Given the description of an element on the screen output the (x, y) to click on. 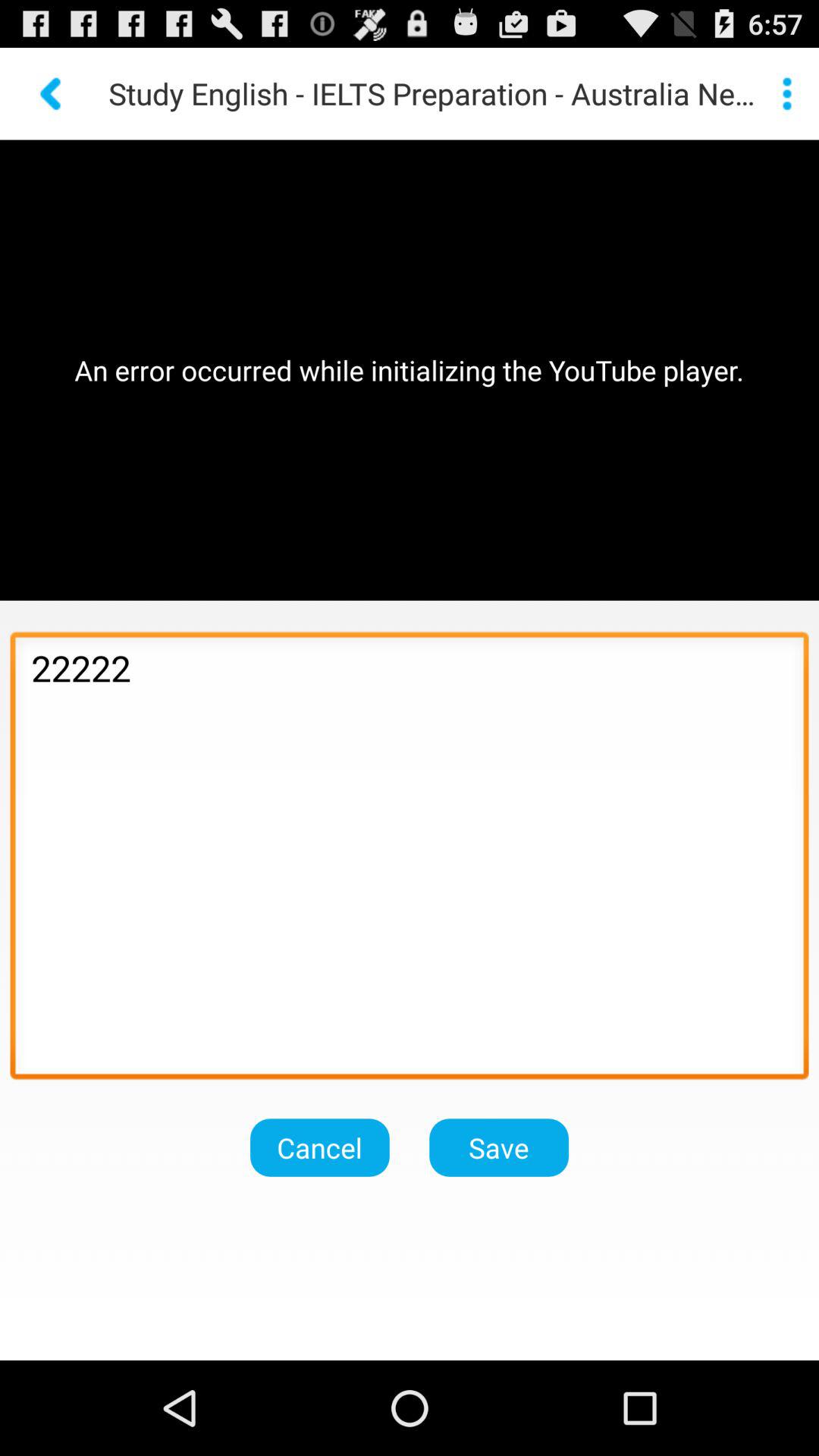
go to previous page (52, 93)
